Given the description of an element on the screen output the (x, y) to click on. 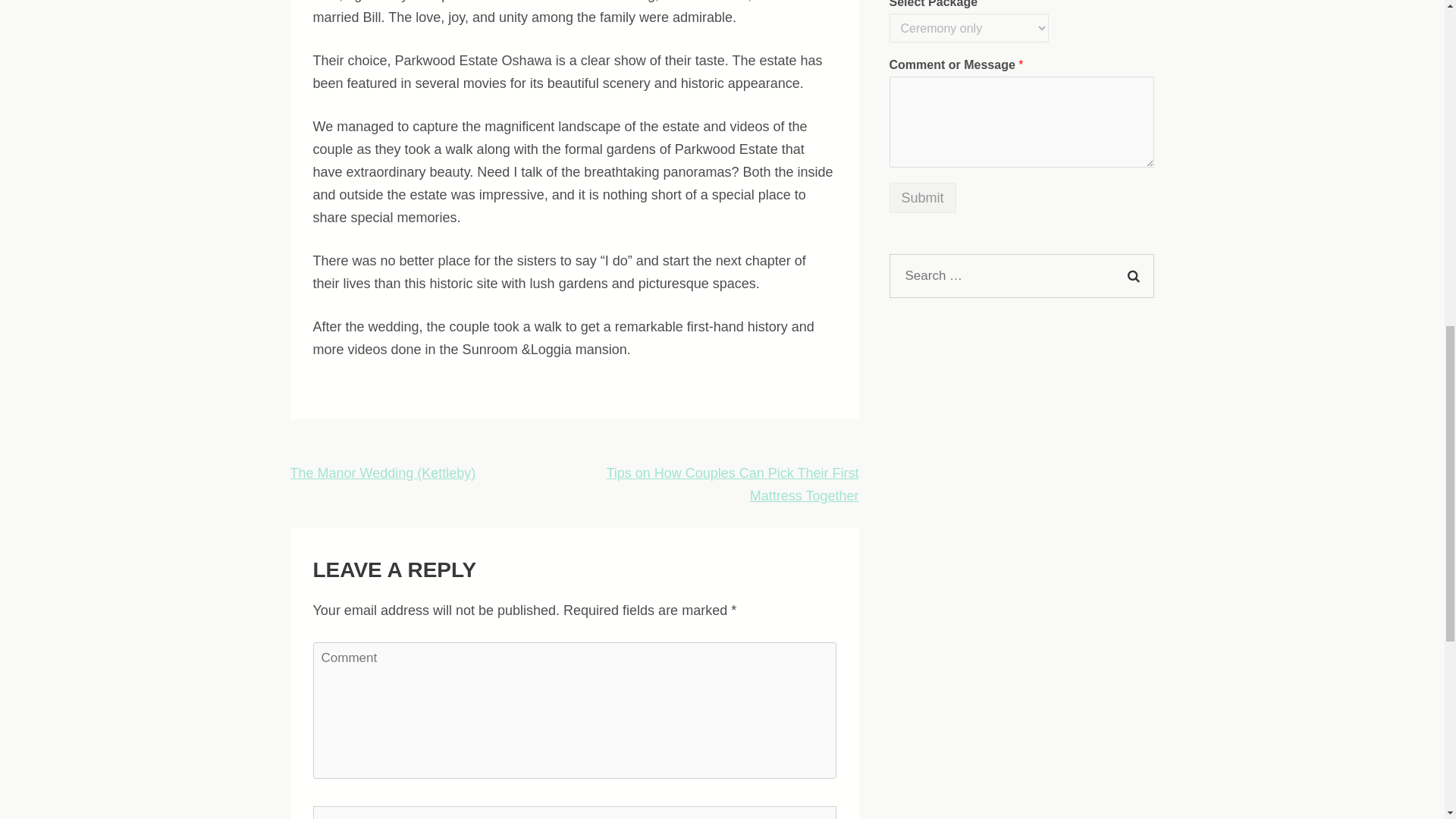
Tips on How Couples Can Pick Their First Mattress Together (732, 484)
Submit (922, 197)
